Given the description of an element on the screen output the (x, y) to click on. 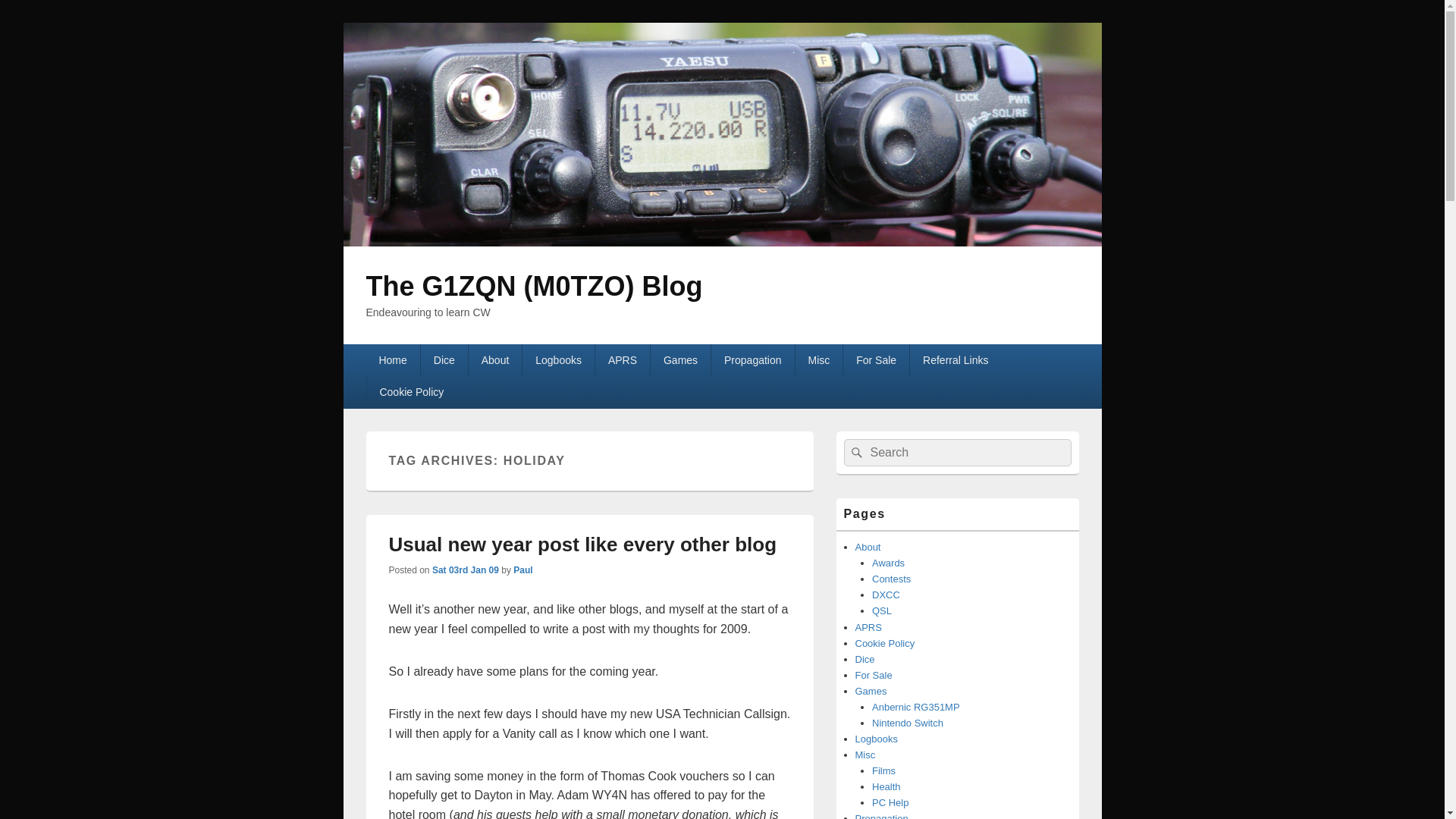
Logbooks (558, 359)
Referral Links (955, 359)
Paul (522, 570)
Search for: (956, 452)
Home (392, 359)
Dice (443, 359)
Sat 03rd Jan 09 (465, 570)
Propagation (752, 359)
Permalink to Usual new year post like every other blog (582, 544)
Misc (818, 359)
Games (680, 359)
About (495, 359)
For Sale (875, 359)
APRS (622, 359)
Cookie Policy (411, 391)
